Given the description of an element on the screen output the (x, y) to click on. 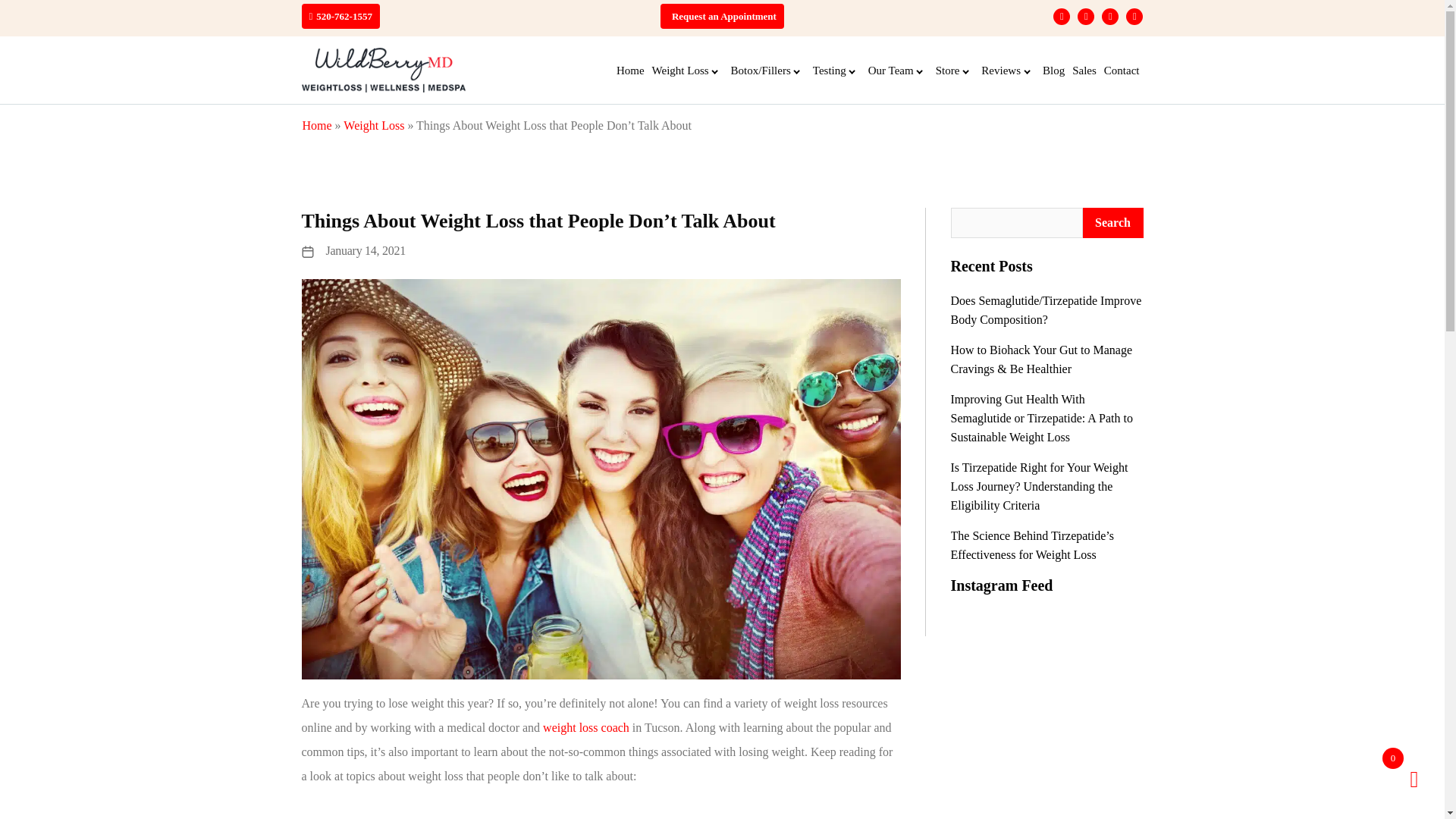
520-762-1557 (343, 16)
Home (629, 70)
Request an Appointment (723, 16)
Search (1112, 223)
Testing (836, 70)
Search (1112, 223)
Our Team (897, 70)
Store (954, 70)
Weight Loss (686, 70)
